Given the description of an element on the screen output the (x, y) to click on. 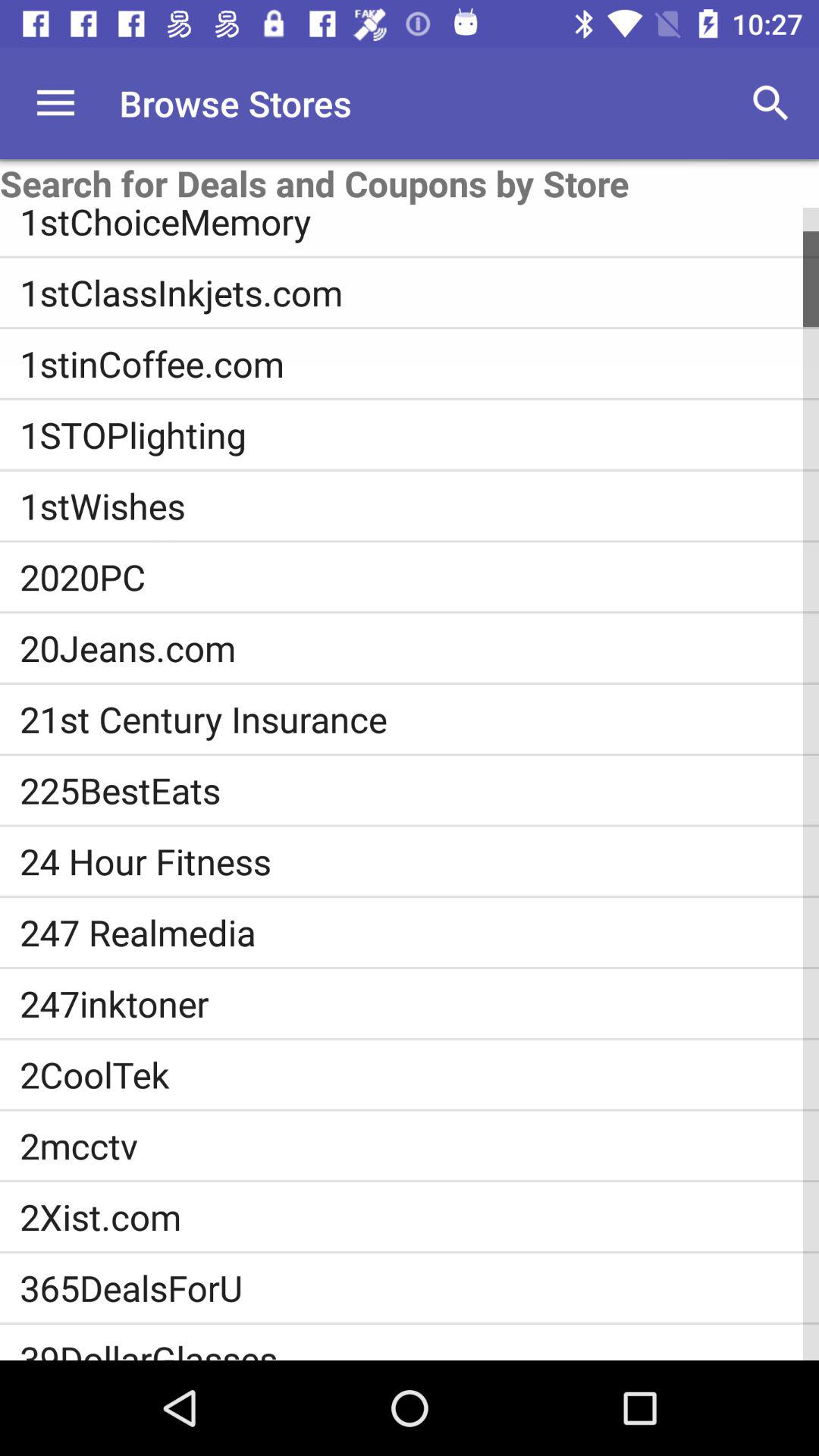
turn off the icon above the search for deals item (55, 103)
